Given the description of an element on the screen output the (x, y) to click on. 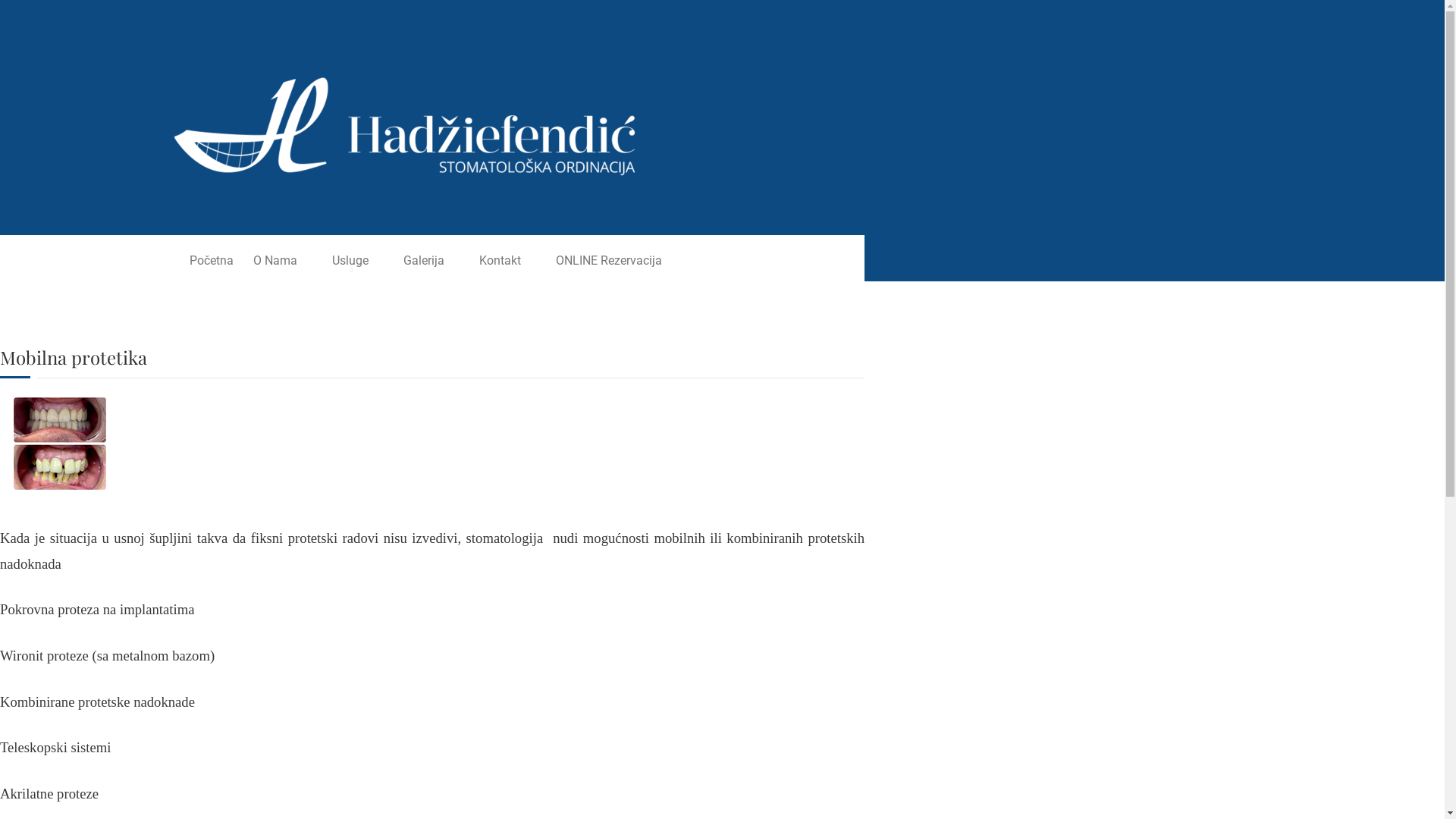
Galerija Element type: text (423, 260)
Usluge Element type: text (349, 260)
Kontakt Element type: text (500, 260)
ONLINE Rezervacija Element type: text (608, 260)
O Nama Element type: text (275, 260)
